Given the description of an element on the screen output the (x, y) to click on. 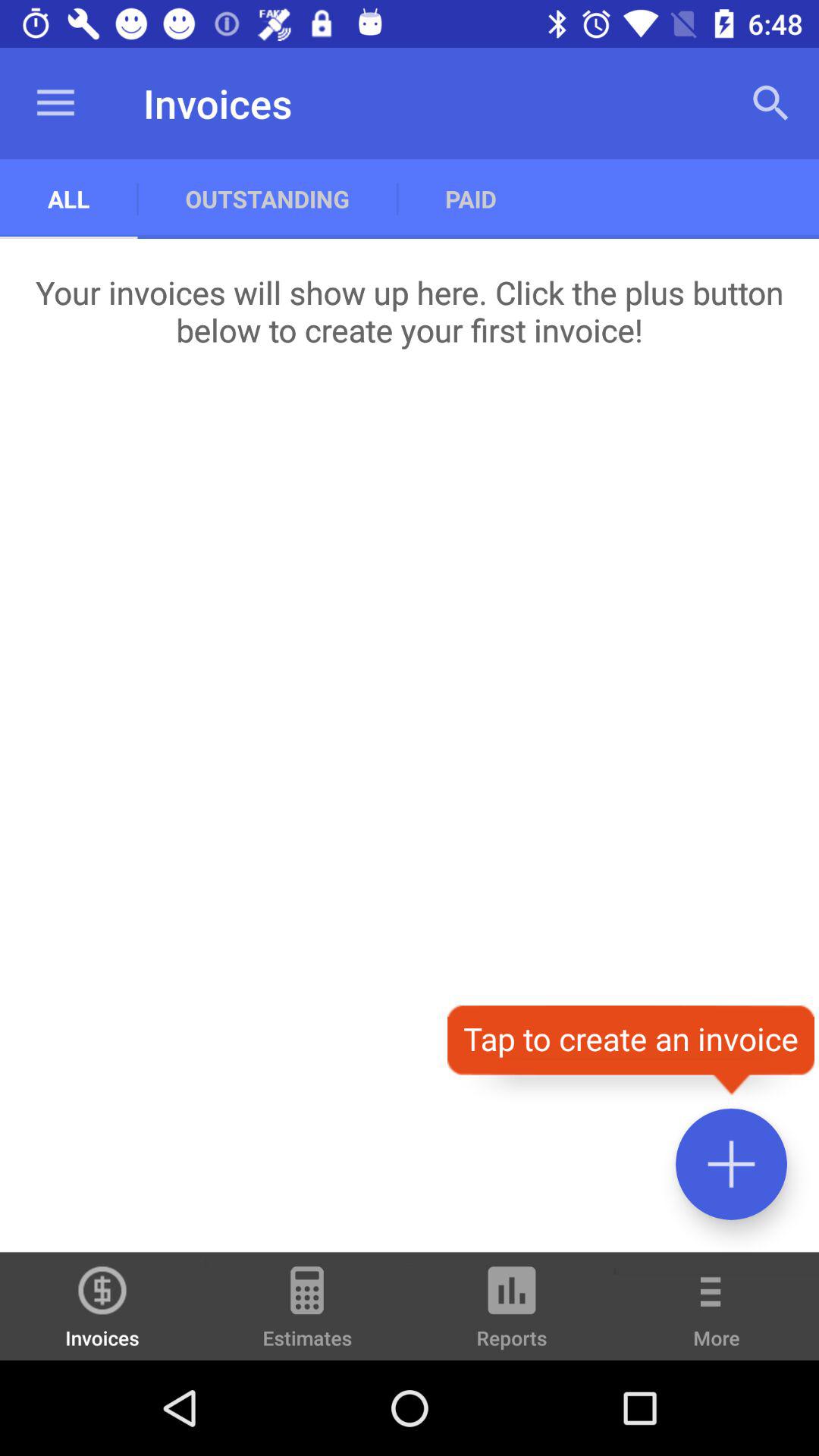
tap the estimates icon (306, 1313)
